Given the description of an element on the screen output the (x, y) to click on. 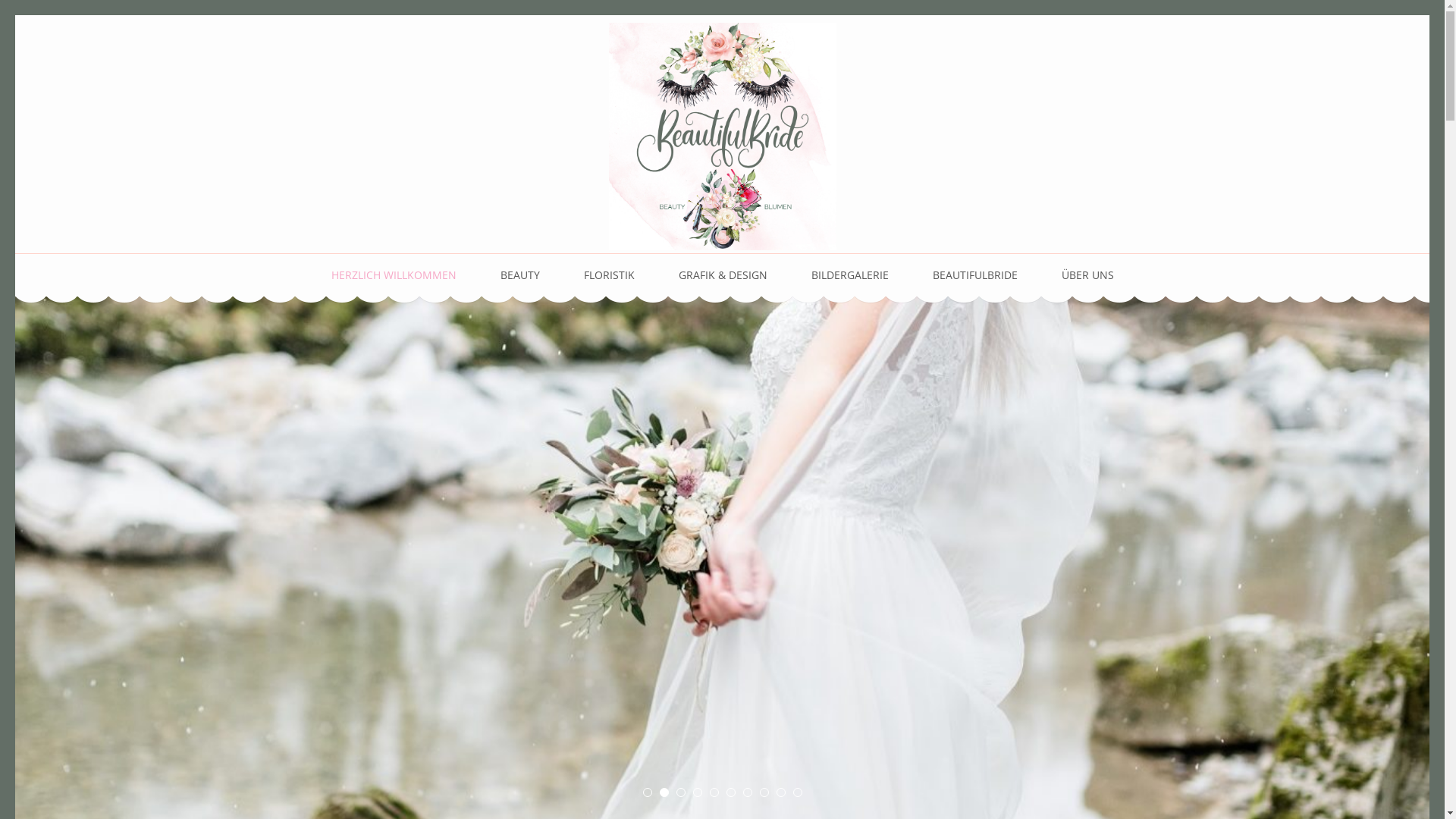
GRAFIK & DESIGN Element type: text (721, 274)
FLORISTIK Element type: text (608, 274)
BEAUTY Element type: text (519, 274)
Skip to content (Press Enter) Element type: text (15, 15)
BILDERGALERIE Element type: text (849, 274)
BEAUTIFULBRIDE Element type: text (974, 274)
HERZLICH WILLKOMMEN Element type: text (392, 274)
